Given the description of an element on the screen output the (x, y) to click on. 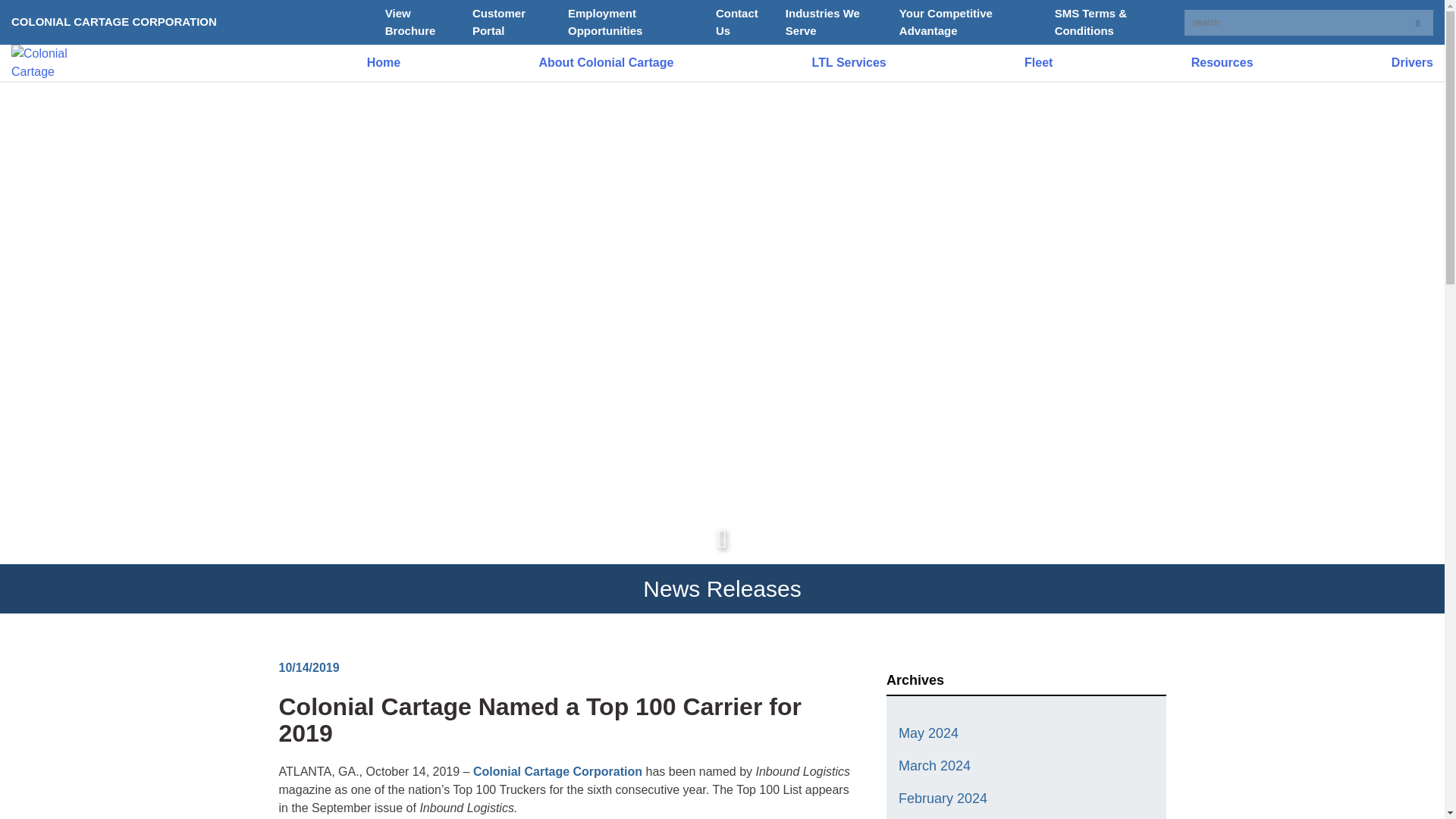
Customer Portal (498, 21)
Your Competitive Advantage (945, 21)
Contact Us (737, 21)
Drivers (1411, 63)
Home (383, 63)
Fleet (1038, 63)
LTL Services (849, 63)
Resources (1222, 63)
Industries We Serve (823, 21)
View Brochure (410, 21)
